Given the description of an element on the screen output the (x, y) to click on. 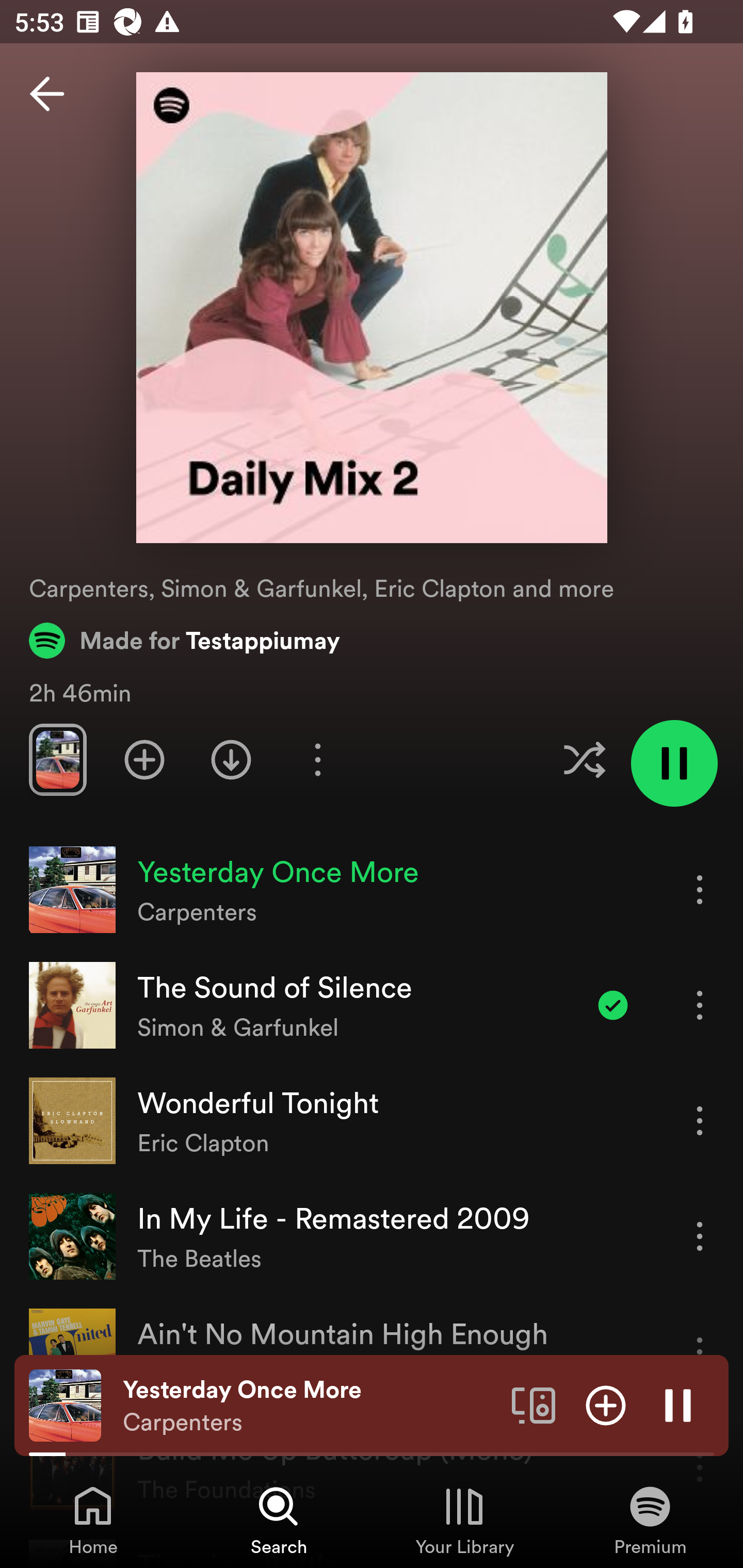
Back (46, 93)
Made for Testappiumay (184, 640)
Swipe through previews of tracks in this playlist. (57, 759)
Add playlist to Your Library (144, 759)
Download (230, 759)
More options for playlist Daily Mix 2 (317, 759)
Enable shuffle for this playlist (583, 759)
Pause playlist (674, 763)
More options for song Yesterday Once More (699, 889)
Item added (612, 1004)
More options for song The Sound of Silence (699, 1004)
More options for song Wonderful Tonight (699, 1120)
More options for song In My Life - Remastered 2009 (699, 1236)
Yesterday Once More Carpenters (309, 1405)
The cover art of the currently playing track (64, 1404)
Connect to a device. Opens the devices menu (533, 1404)
Add item (605, 1404)
Pause (677, 1404)
Home, Tab 1 of 4 Home Home (92, 1519)
Search, Tab 2 of 4 Search Search (278, 1519)
Your Library, Tab 3 of 4 Your Library Your Library (464, 1519)
Premium, Tab 4 of 4 Premium Premium (650, 1519)
